Given the description of an element on the screen output the (x, y) to click on. 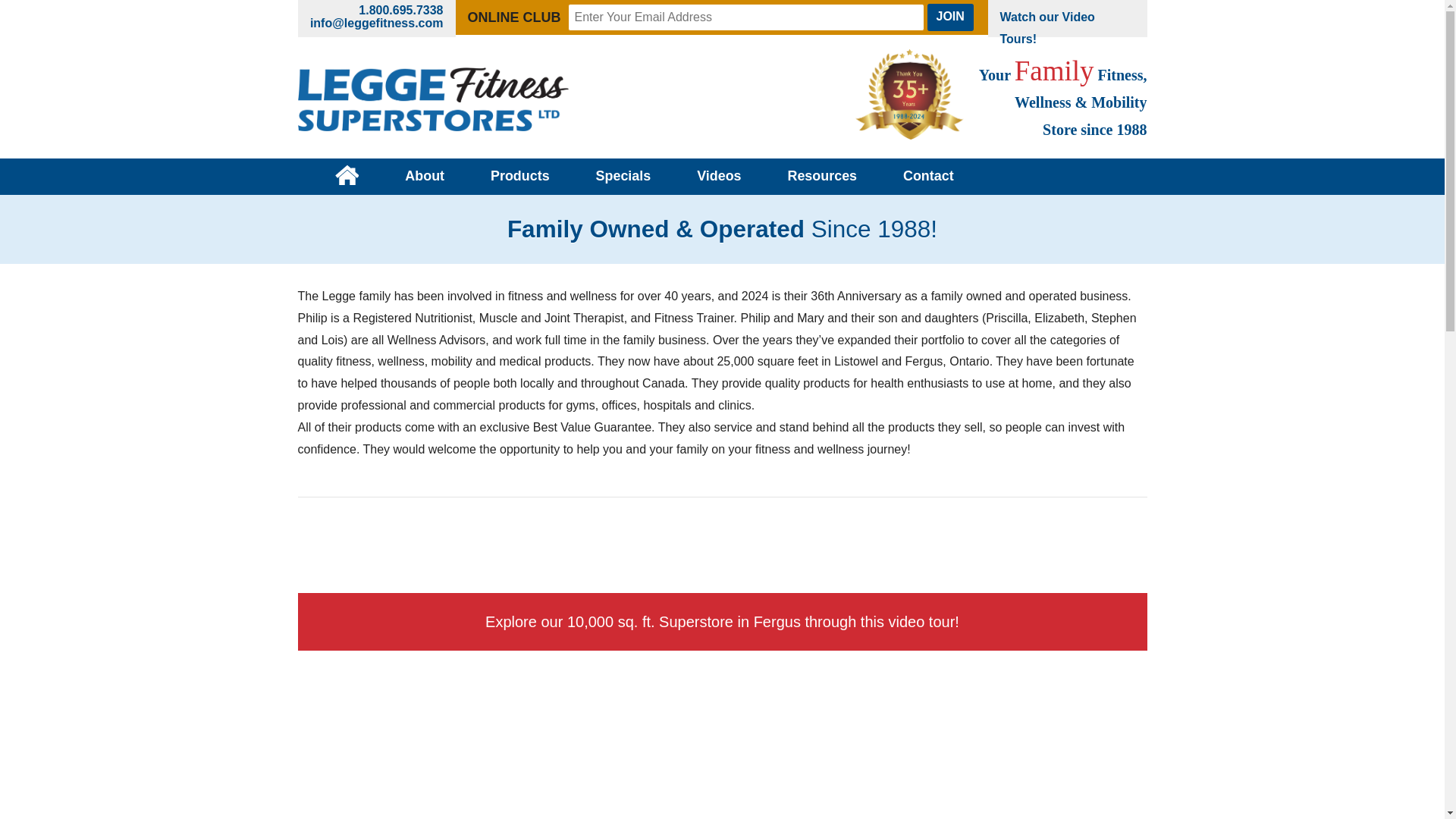
YouTube video player (722, 746)
Join (949, 17)
Join (949, 17)
Products (519, 176)
Watch our Video Tours! (1066, 27)
About (424, 176)
